Given the description of an element on the screen output the (x, y) to click on. 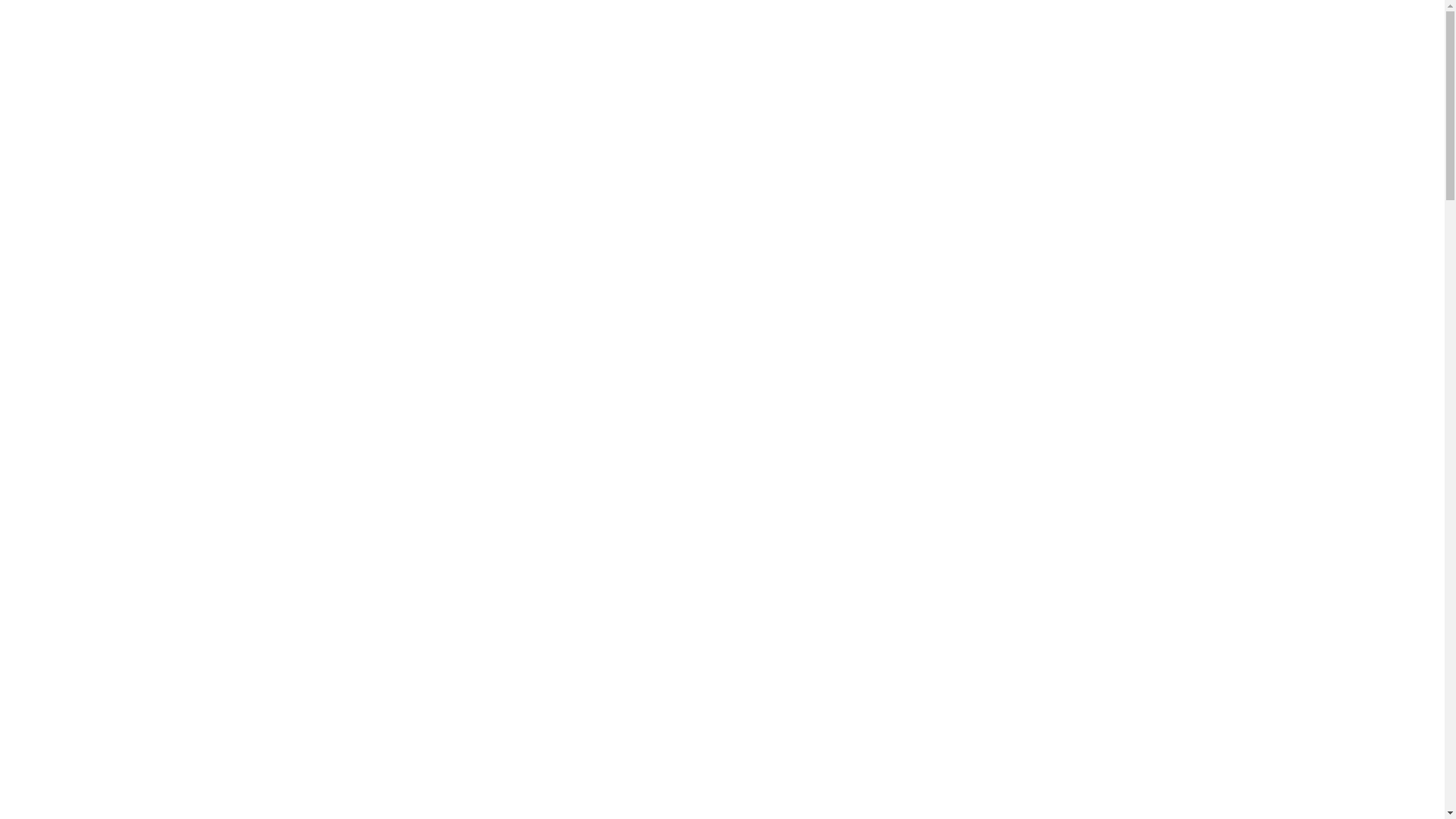
Rechercher Element type: text (1134, 356)
